Given the description of an element on the screen output the (x, y) to click on. 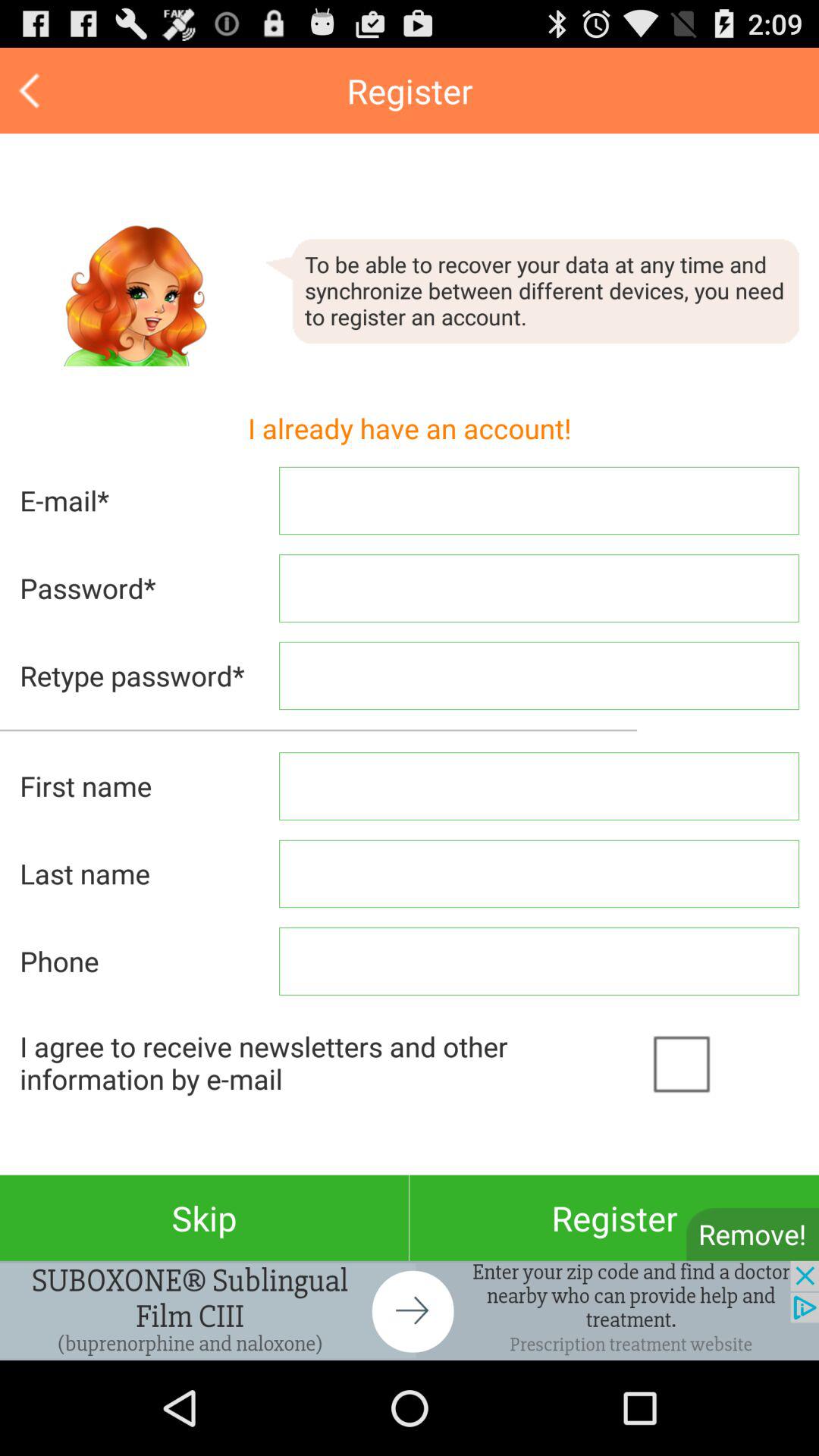
click on check box (720, 1062)
choose the text field of retype password (539, 676)
click on remove (752, 1234)
